Given the description of an element on the screen output the (x, y) to click on. 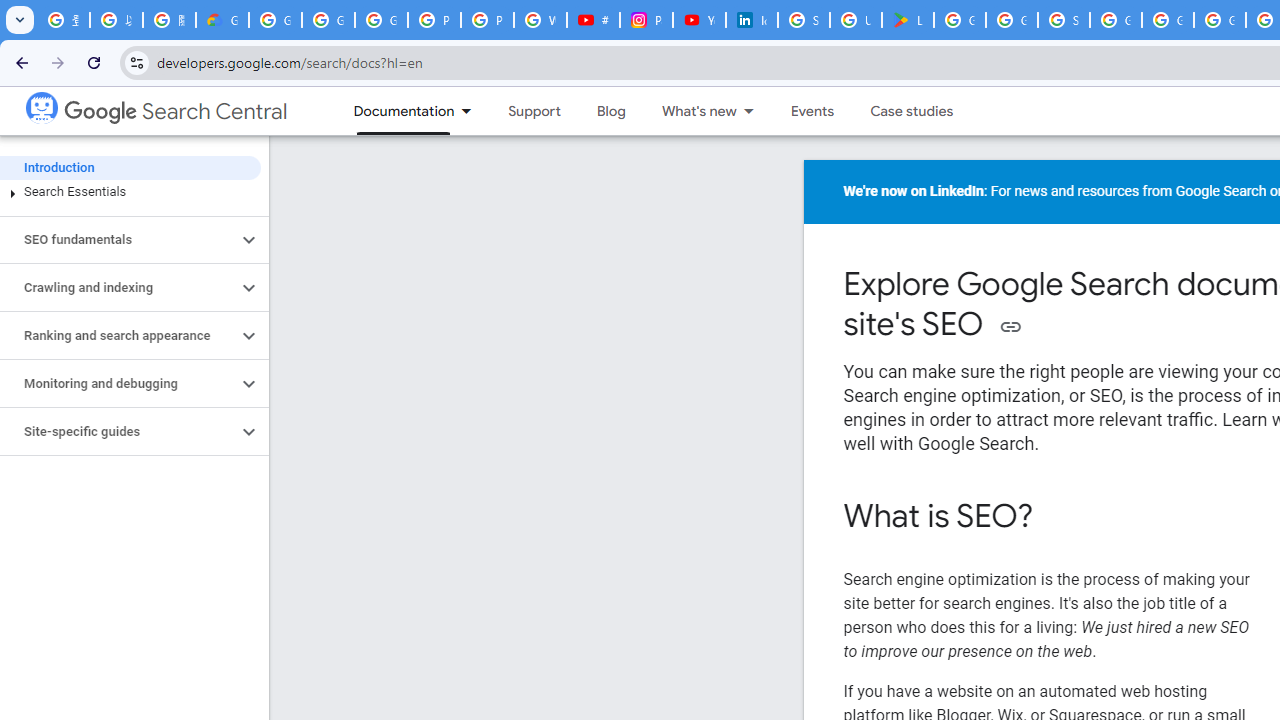
Last Shelter: Survival - Apps on Google Play (907, 20)
Case studies (911, 111)
Sign in - Google Accounts (1064, 20)
Crawling and indexing (118, 287)
Documentation, selected (394, 111)
